Given the description of an element on the screen output the (x, y) to click on. 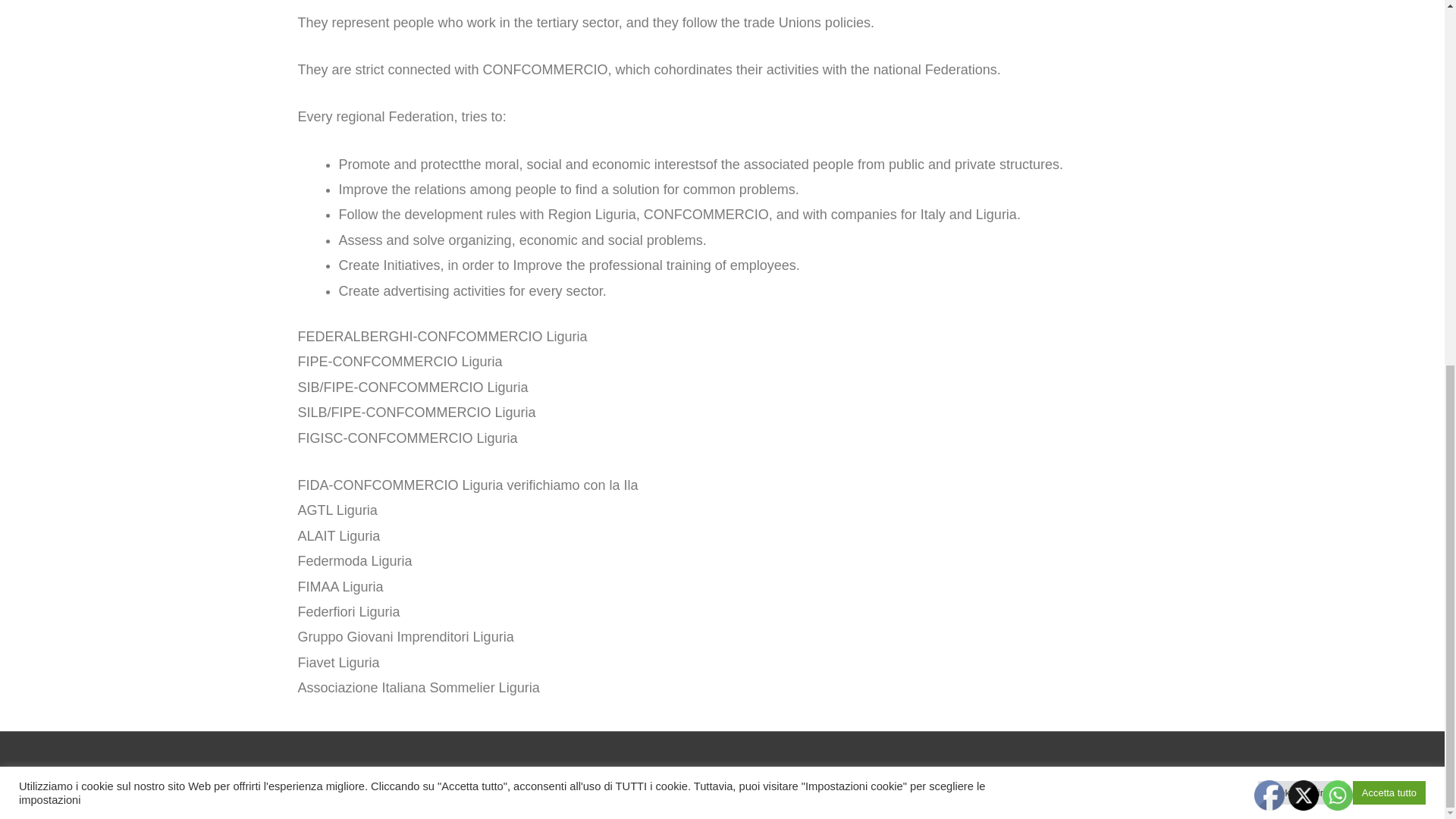
WhatsApp (1337, 795)
Cookie Settings (1301, 136)
Facebook (1268, 795)
Twitter (1303, 795)
Accetta tutto (1388, 136)
